Given the description of an element on the screen output the (x, y) to click on. 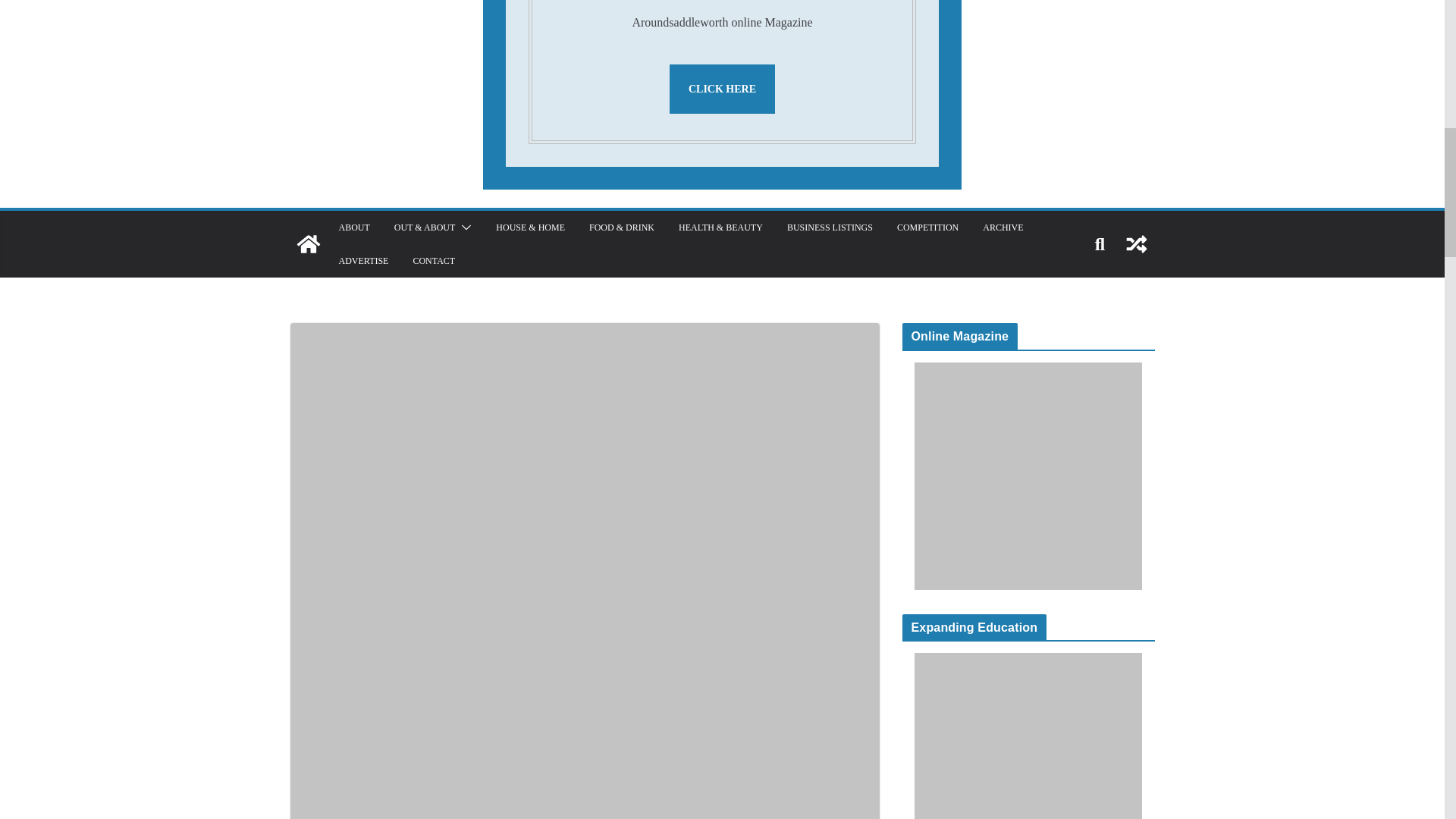
BUSINESS LISTINGS (829, 227)
ADVERTISE (362, 260)
CLICK HERE (721, 88)
ARCHIVE (1002, 227)
COMPETITION (927, 227)
View a random post (1136, 244)
ABOUT (353, 227)
CONTACT (433, 260)
